Given the description of an element on the screen output the (x, y) to click on. 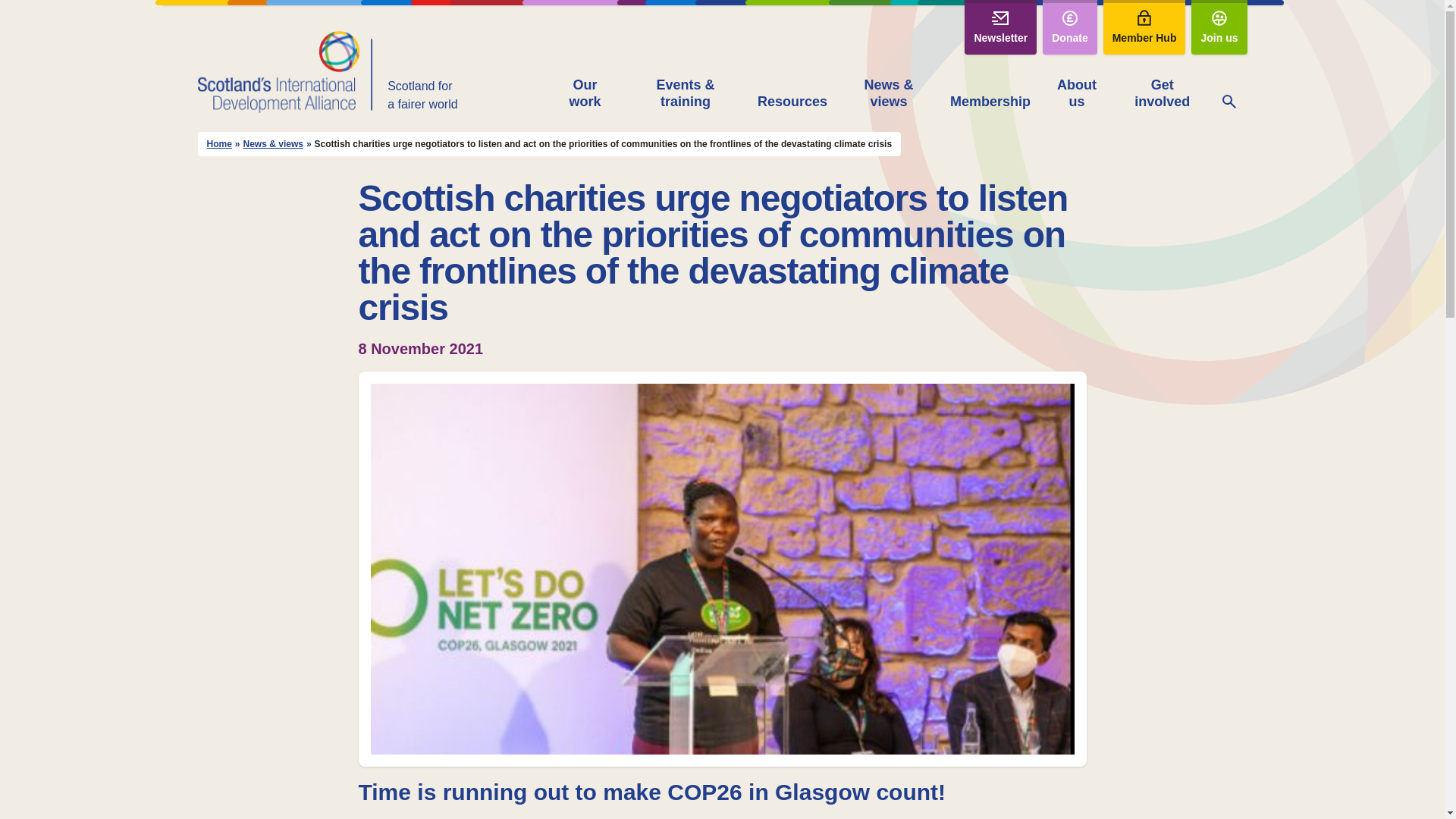
Membership (989, 102)
Resources (791, 102)
Go to Scotland's International Development Alliance. (218, 143)
About us (1076, 94)
Our work (585, 94)
